Given the description of an element on the screen output the (x, y) to click on. 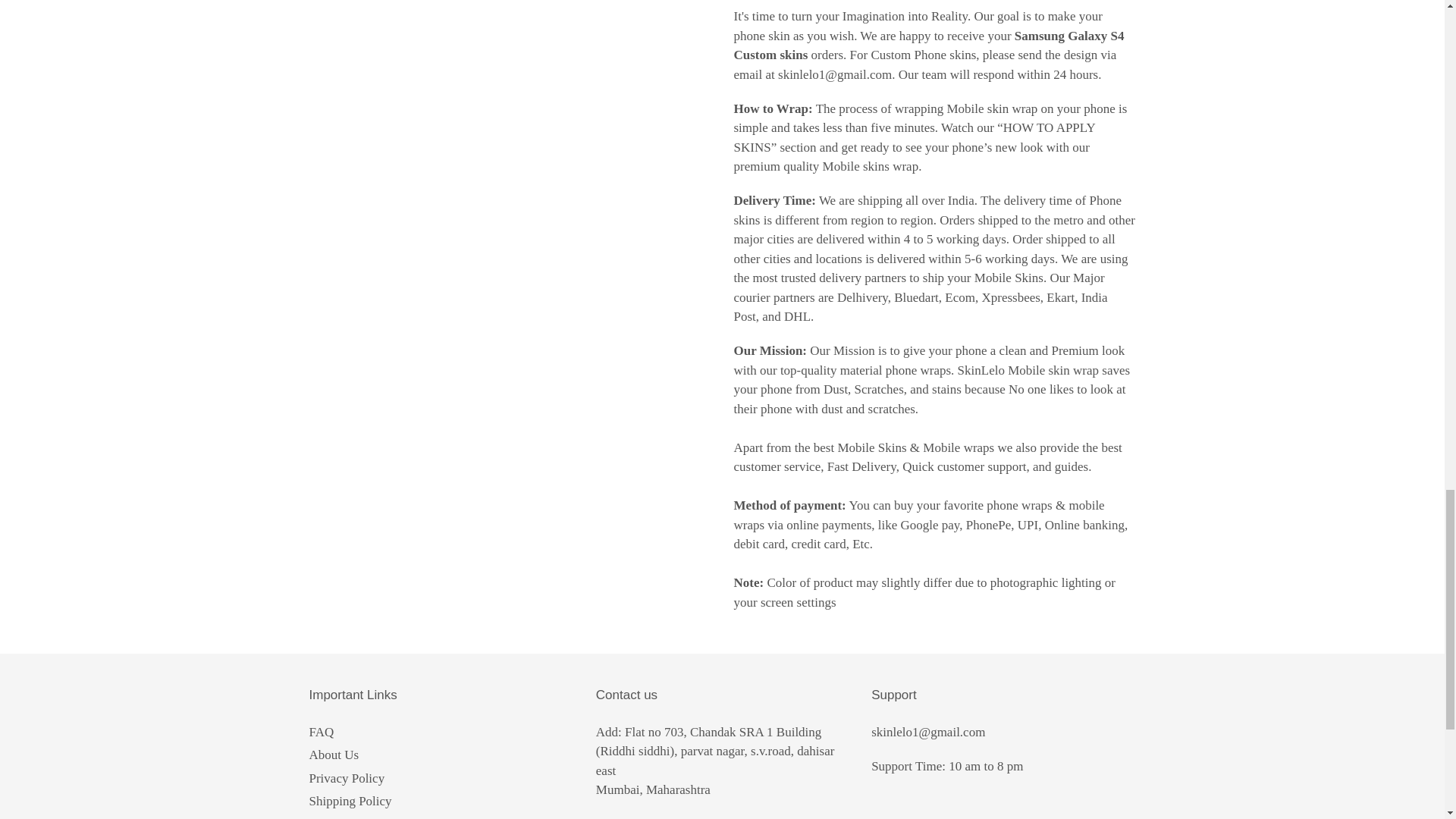
FAQ (321, 731)
Shipping Policy (349, 800)
How to Apply Skins (360, 818)
About Us (333, 754)
How to apply mobile skins (914, 137)
Privacy Policy (346, 778)
HOW TO APPLY SKINS (914, 137)
